Given the description of an element on the screen output the (x, y) to click on. 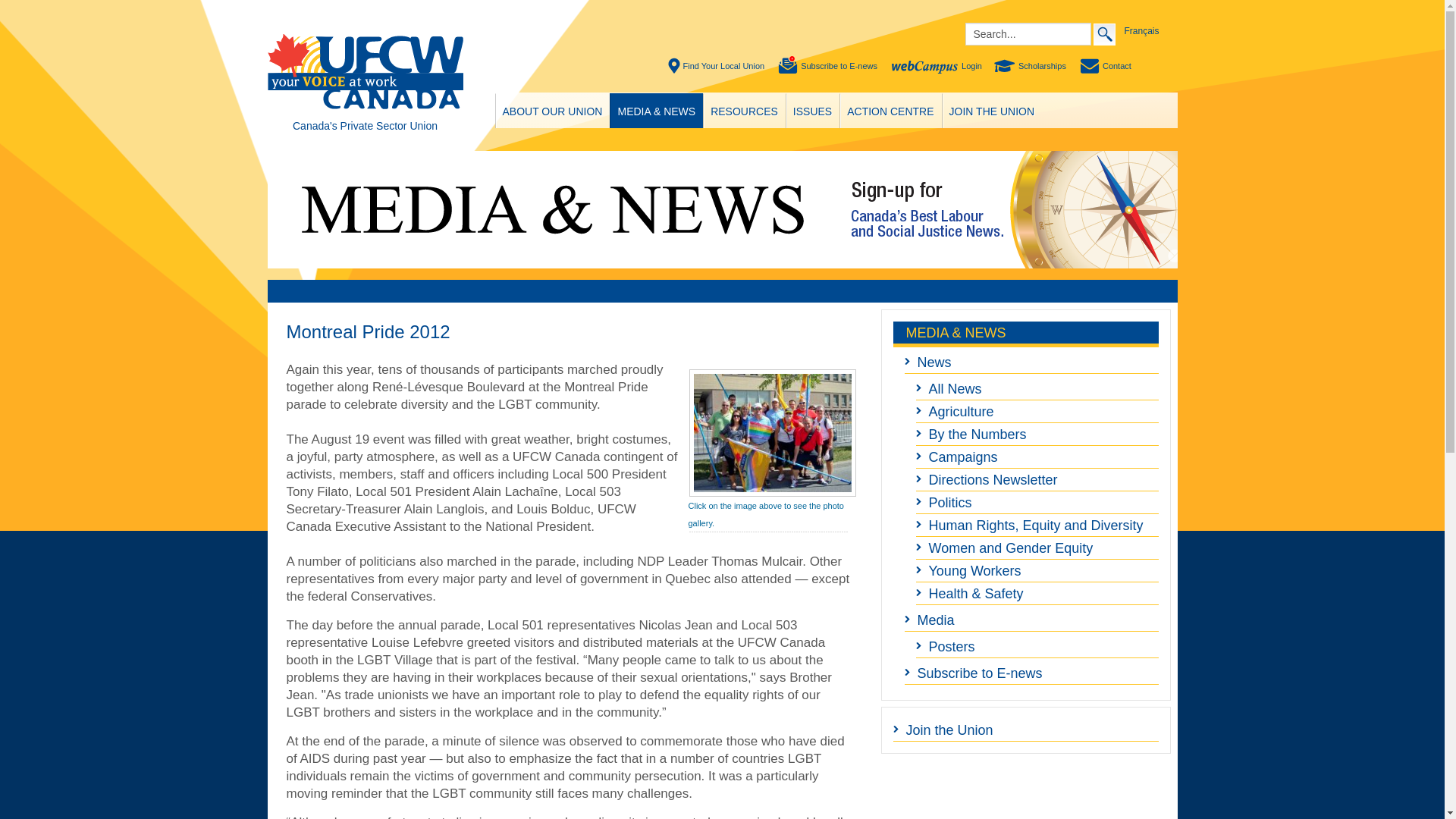
Scholarships (1031, 65)
ACTION CENTRE (890, 110)
Search (1104, 33)
ABOUT OUR UNION (553, 110)
Politics (1036, 502)
Find Your Local Union (716, 65)
Montreal Pride 2012 (367, 331)
Login (936, 65)
News (1030, 362)
Human Rights, Equity and Diversity (1036, 525)
Campaigns (1036, 456)
Contact (1106, 65)
ISSUES (812, 110)
Search... (1026, 33)
Women and Gender Equity (1036, 548)
